Given the description of an element on the screen output the (x, y) to click on. 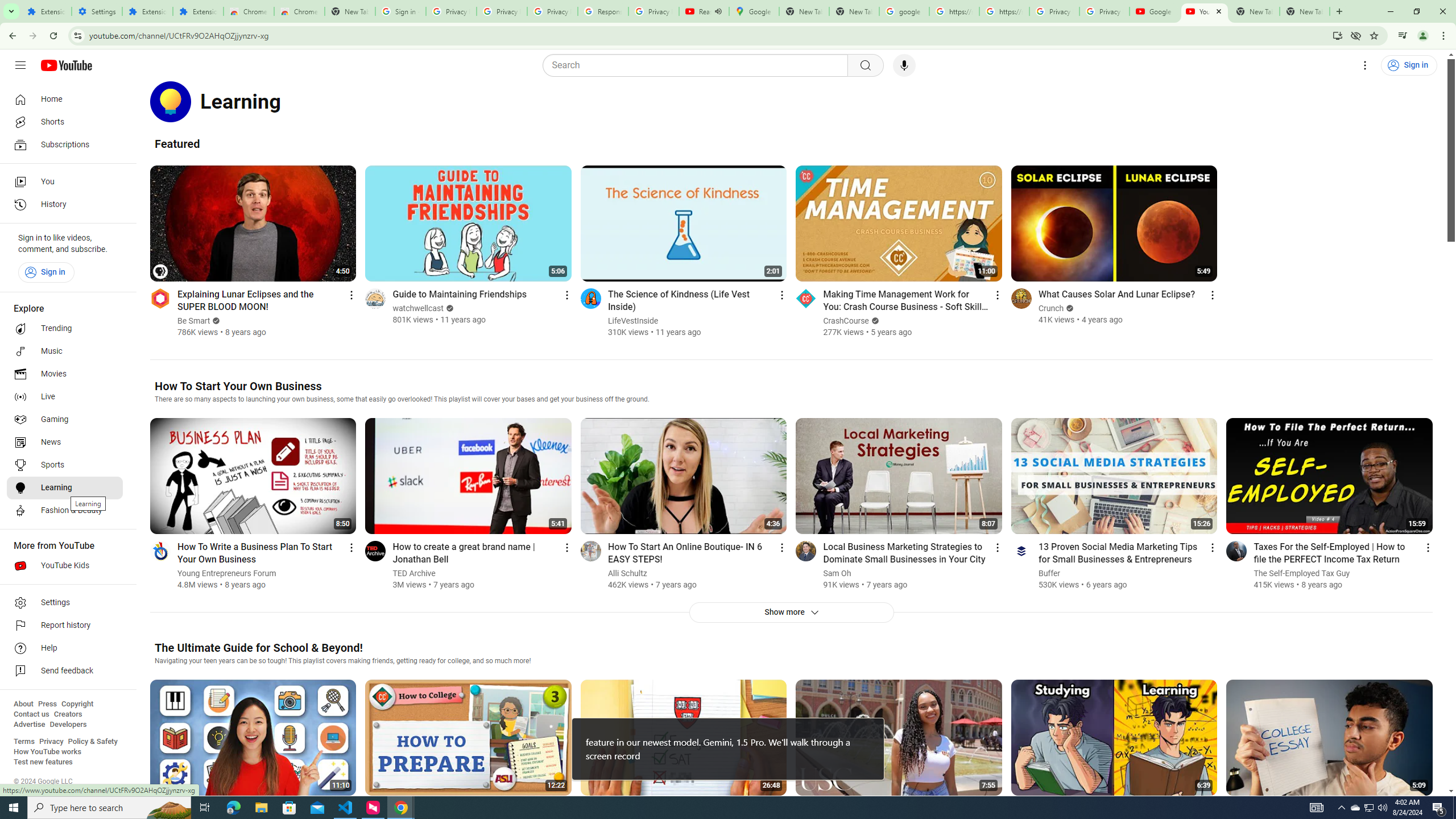
YouTube Home (66, 65)
Verified (1068, 308)
CrashCourse (846, 320)
The Ultimate Guide for School & Beyond! (258, 647)
Movies (64, 373)
Alli Schultz (627, 573)
History (64, 204)
Sports (64, 464)
The Self-Employed Tax Guy (1302, 573)
https://scholar.google.com/ (1004, 11)
